Given the description of an element on the screen output the (x, y) to click on. 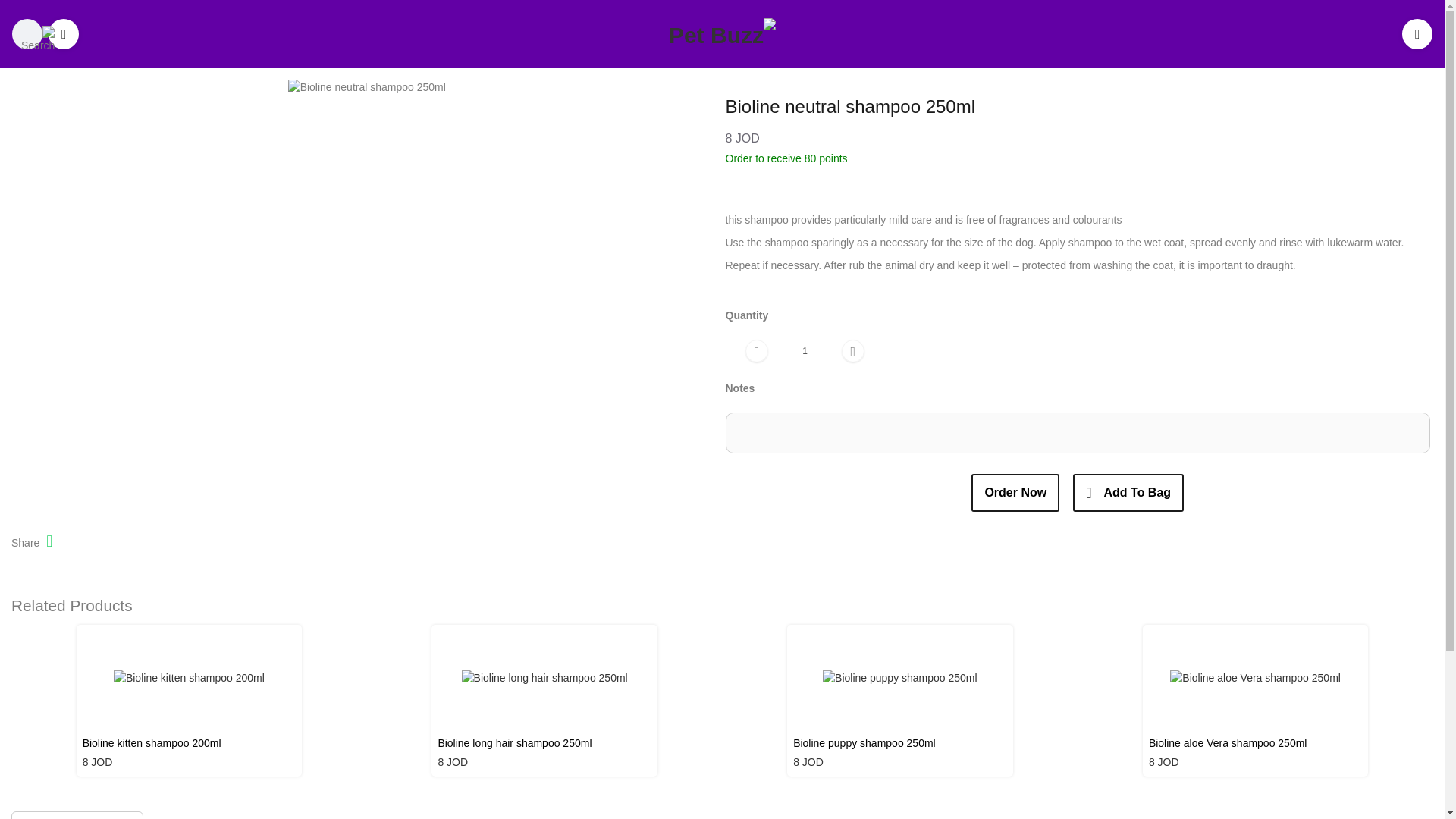
Bioline puppy shampoo 250ml (900, 745)
Bioline aloe Vera shampoo 250ml (1255, 745)
Bioline long hair shampoo 250ml (544, 745)
1 (804, 350)
Bioline kitten shampoo 200ml (189, 745)
